Given the description of an element on the screen output the (x, y) to click on. 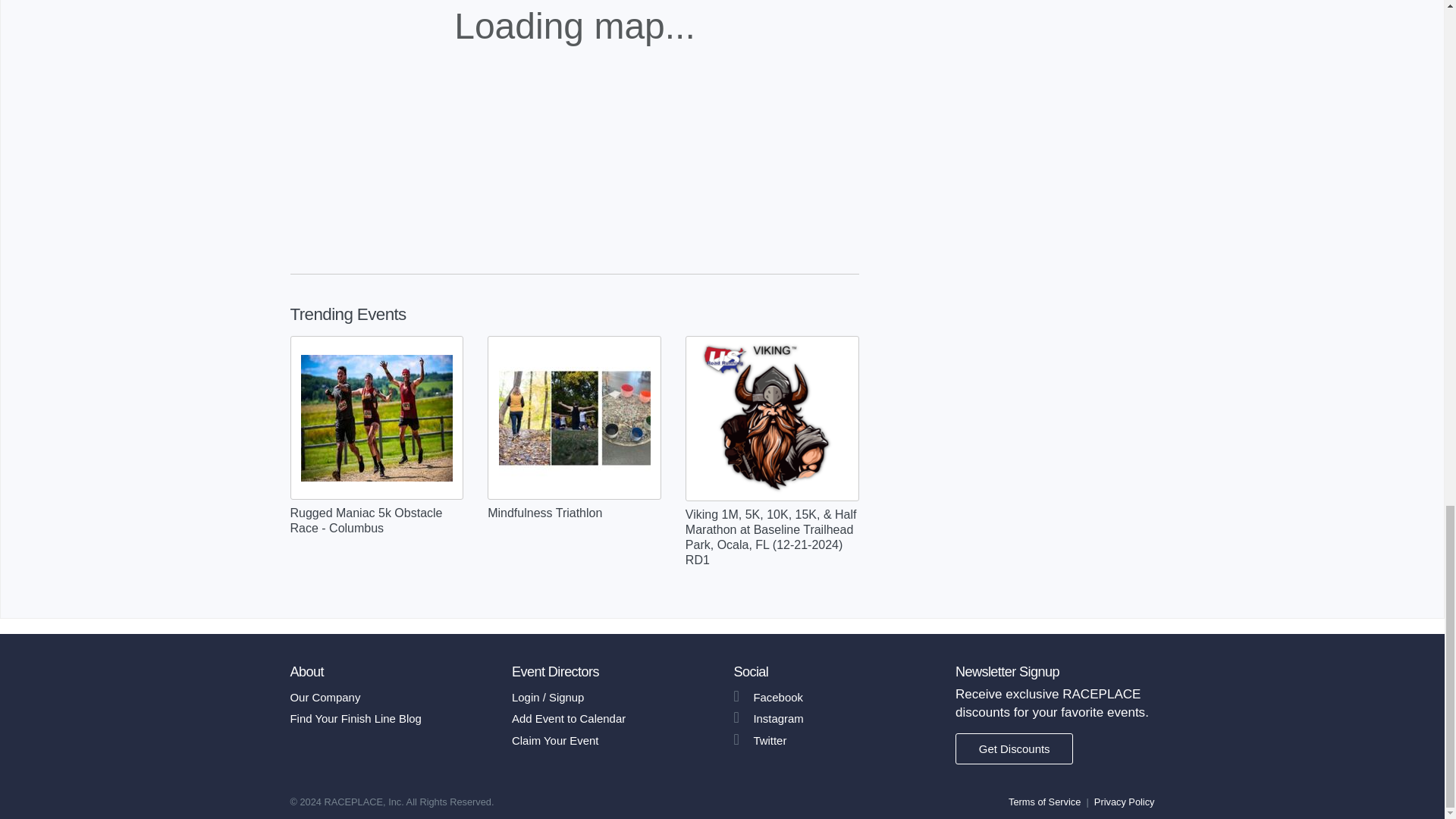
Rugged Maniac 5k Obstacle Race - Columbus on RACEPLACE.com (376, 417)
Mindfulness Triathlon on RACEPLACE.com (574, 417)
